Given the description of an element on the screen output the (x, y) to click on. 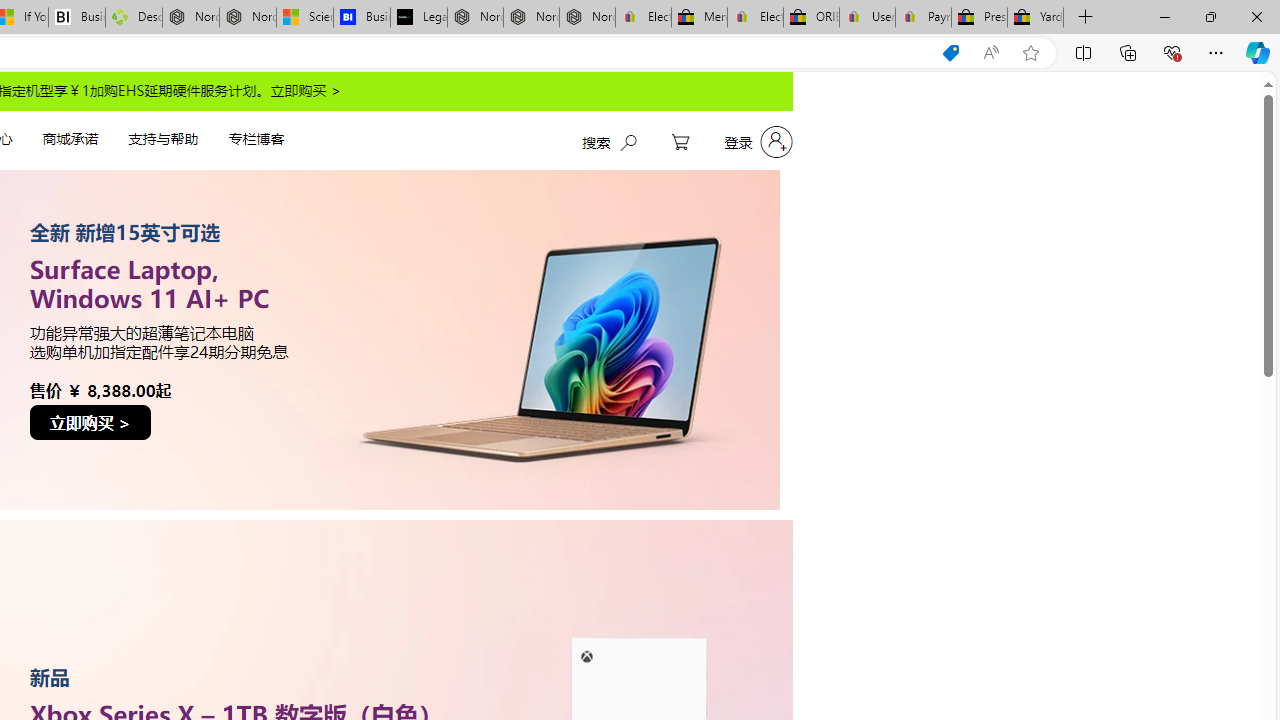
Yard, Garden & Outdoor Living (1035, 17)
Press Room - eBay Inc. (979, 17)
